Given the description of an element on the screen output the (x, y) to click on. 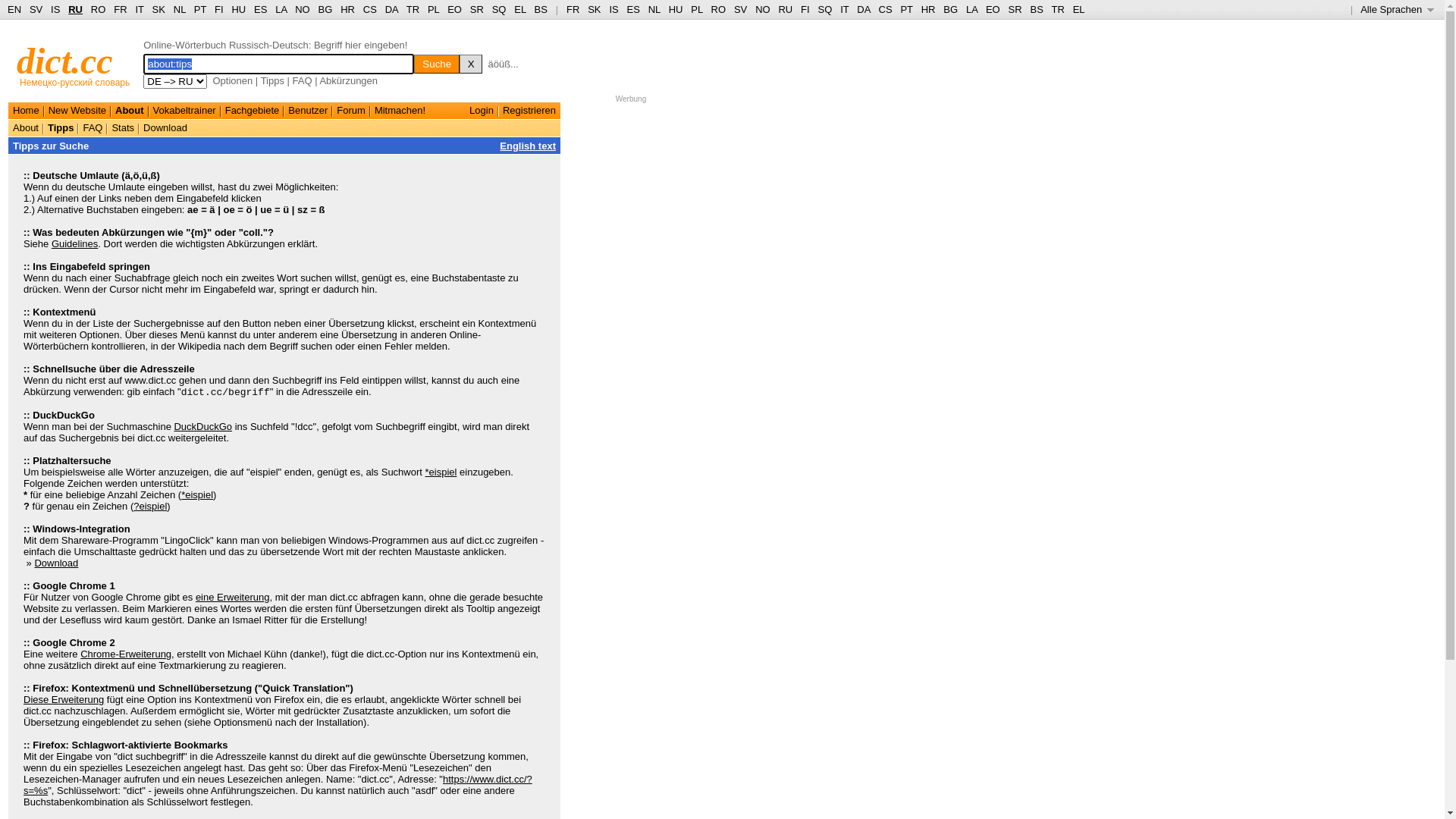
IS Element type: text (54, 9)
RU Element type: text (75, 9)
HR Element type: text (928, 9)
NO Element type: text (302, 9)
DuckDuckGo Element type: text (202, 426)
HU Element type: text (238, 9)
SR Element type: text (476, 9)
NL Element type: text (654, 9)
dict.cc Element type: text (64, 60)
SQ Element type: text (824, 9)
Suche Element type: text (436, 63)
TR Element type: text (1057, 9)
SK Element type: text (158, 9)
EO Element type: text (454, 9)
About Element type: text (25, 127)
ES Element type: text (633, 9)
DA Element type: text (862, 9)
FI Element type: text (804, 9)
BG Element type: text (325, 9)
Chrome-Erweiterung Element type: text (125, 653)
Diese Erweiterung Element type: text (63, 699)
Tipps Element type: text (272, 80)
Vokabeltrainer Element type: text (184, 110)
DA Element type: text (391, 9)
SV Element type: text (35, 9)
LA Element type: text (280, 9)
Download Element type: text (165, 127)
Mitmachen! Element type: text (399, 110)
Guidelines Element type: text (74, 243)
New Website Element type: text (77, 110)
https://www.dict.cc/?s=%s Element type: text (277, 784)
RO Element type: text (98, 9)
Tipps Element type: text (60, 127)
EL Element type: text (1079, 9)
PL Element type: text (696, 9)
Forum Element type: text (350, 110)
HU Element type: text (675, 9)
English text Element type: text (527, 144)
BG Element type: text (950, 9)
Fachgebiete Element type: text (252, 110)
EO Element type: text (992, 9)
NL Element type: text (179, 9)
PT Element type: text (906, 9)
IT Element type: text (138, 9)
LA Element type: text (971, 9)
PT Element type: text (200, 9)
FI Element type: text (218, 9)
BS Element type: text (540, 9)
IS Element type: text (613, 9)
RO Element type: text (718, 9)
Registrieren Element type: text (528, 110)
TR Element type: text (412, 9)
About Element type: text (129, 110)
eine Erweiterung Element type: text (232, 596)
Home Element type: text (25, 110)
SV Element type: text (740, 9)
SK Element type: text (593, 9)
EN Element type: text (14, 9)
FR Element type: text (119, 9)
EL Element type: text (519, 9)
CS Element type: text (884, 9)
Download Element type: text (56, 562)
Optionen Element type: text (232, 80)
IT Element type: text (844, 9)
SQ Element type: text (499, 9)
Stats Element type: text (122, 127)
*eispiel Element type: text (197, 494)
Login Element type: text (481, 110)
*eispiel Element type: text (441, 471)
BS Element type: text (1035, 9)
SR Element type: text (1015, 9)
?eispiel Element type: text (149, 505)
PL Element type: text (433, 9)
NO Element type: text (762, 9)
ES Element type: text (260, 9)
Benutzer Element type: text (307, 110)
RU Element type: text (785, 9)
CS Element type: text (369, 9)
HR Element type: text (347, 9)
FAQ Element type: text (302, 80)
FAQ Element type: text (92, 127)
Alle Sprachen  Element type: text (1397, 9)
FR Element type: text (572, 9)
X Element type: text (470, 63)
